Given the description of an element on the screen output the (x, y) to click on. 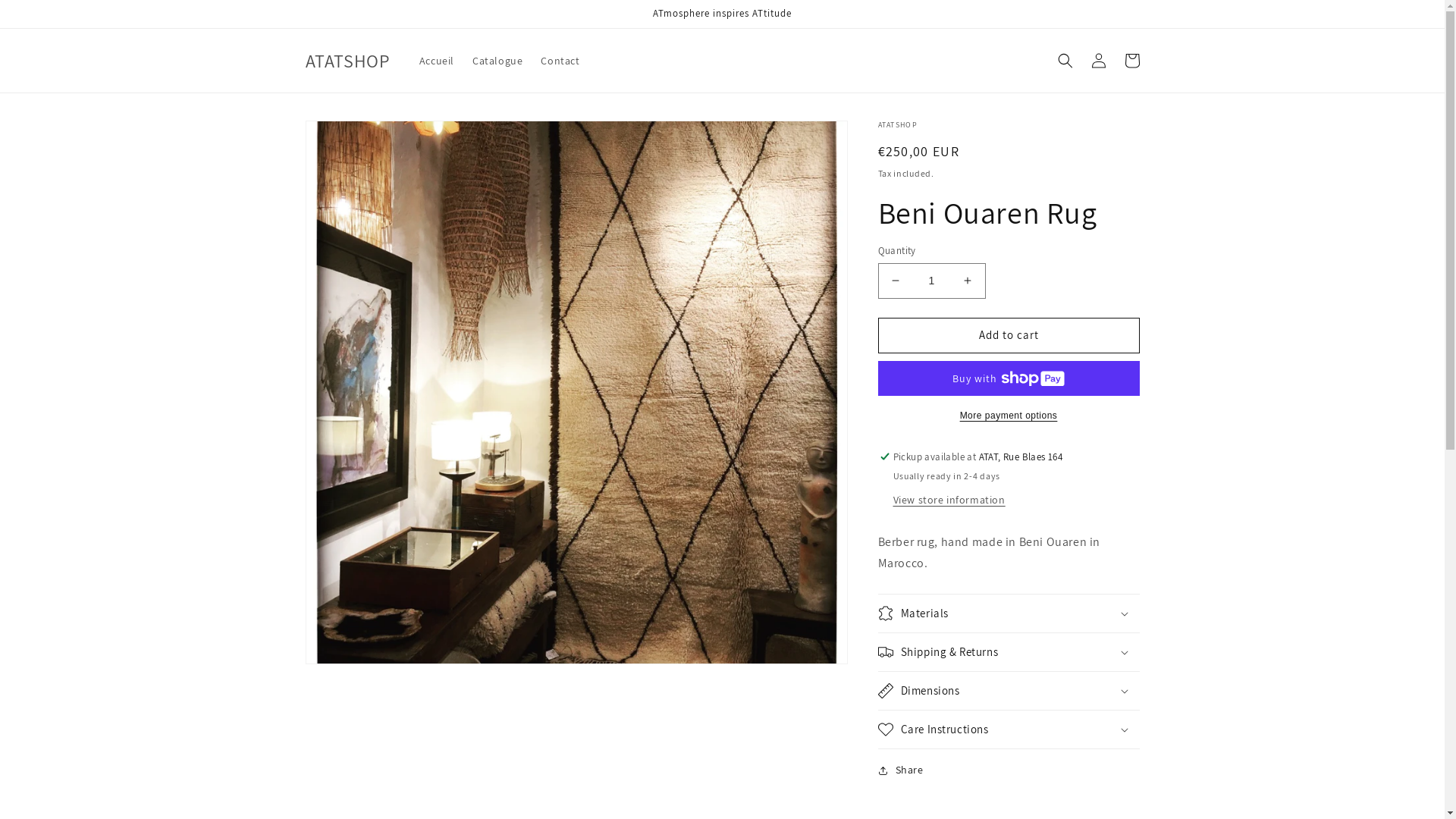
Accueil Element type: text (436, 60)
Add to cart Element type: text (1008, 335)
Contact Element type: text (559, 60)
Increase quantity for Beni Ouaren Rug Element type: text (967, 280)
Catalogue Element type: text (497, 60)
Skip to product information Element type: text (350, 137)
Decrease quantity for Beni Ouaren Rug Element type: text (895, 280)
Log in Element type: text (1097, 60)
ATATSHOP Element type: text (347, 60)
Cart Element type: text (1131, 60)
More payment options Element type: text (1008, 415)
View store information Element type: text (949, 500)
